Given the description of an element on the screen output the (x, y) to click on. 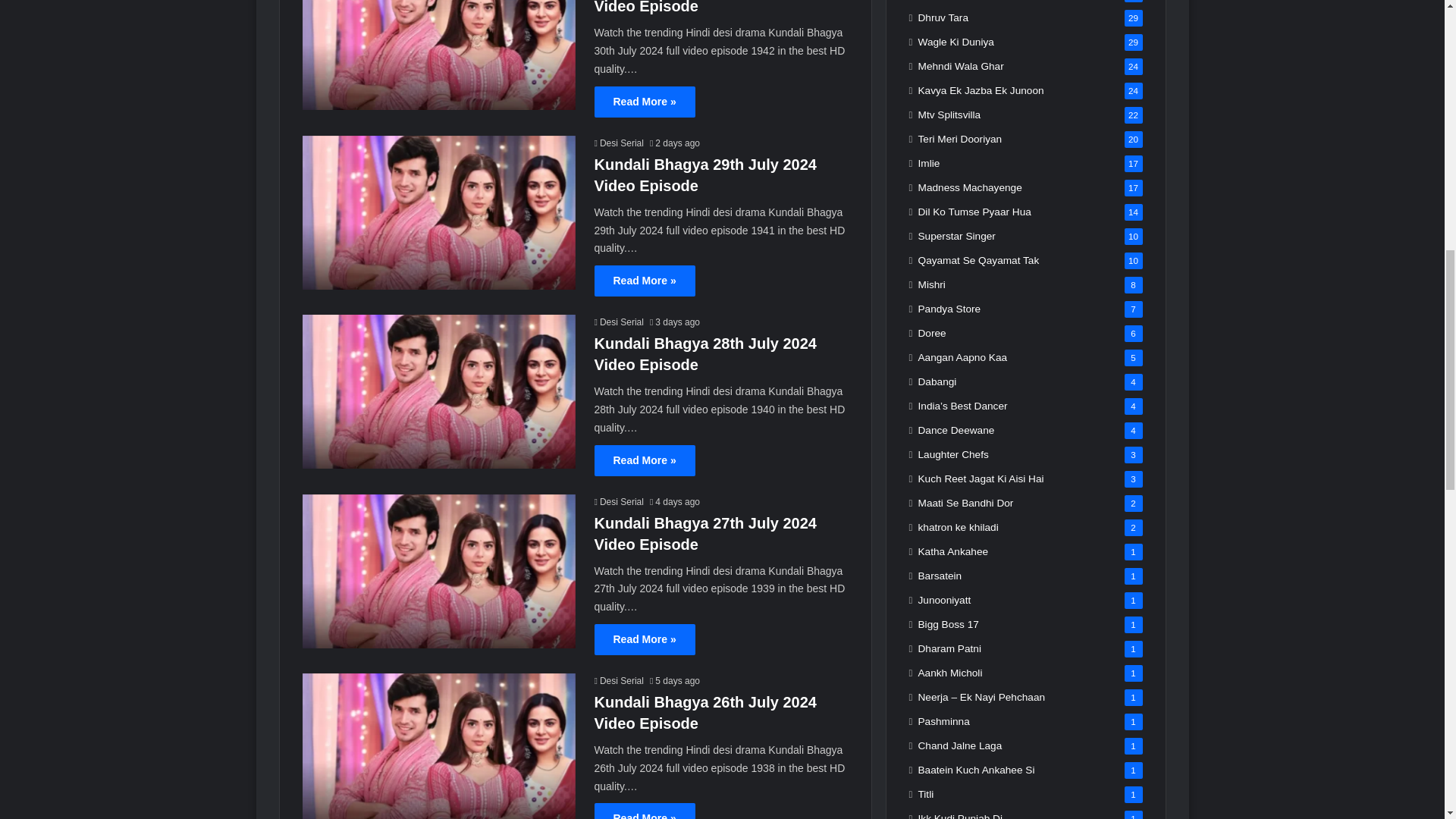
Desi Serial (618, 680)
Desi Serial (618, 501)
Desi Serial (618, 321)
Desi Serial (618, 143)
